Given the description of an element on the screen output the (x, y) to click on. 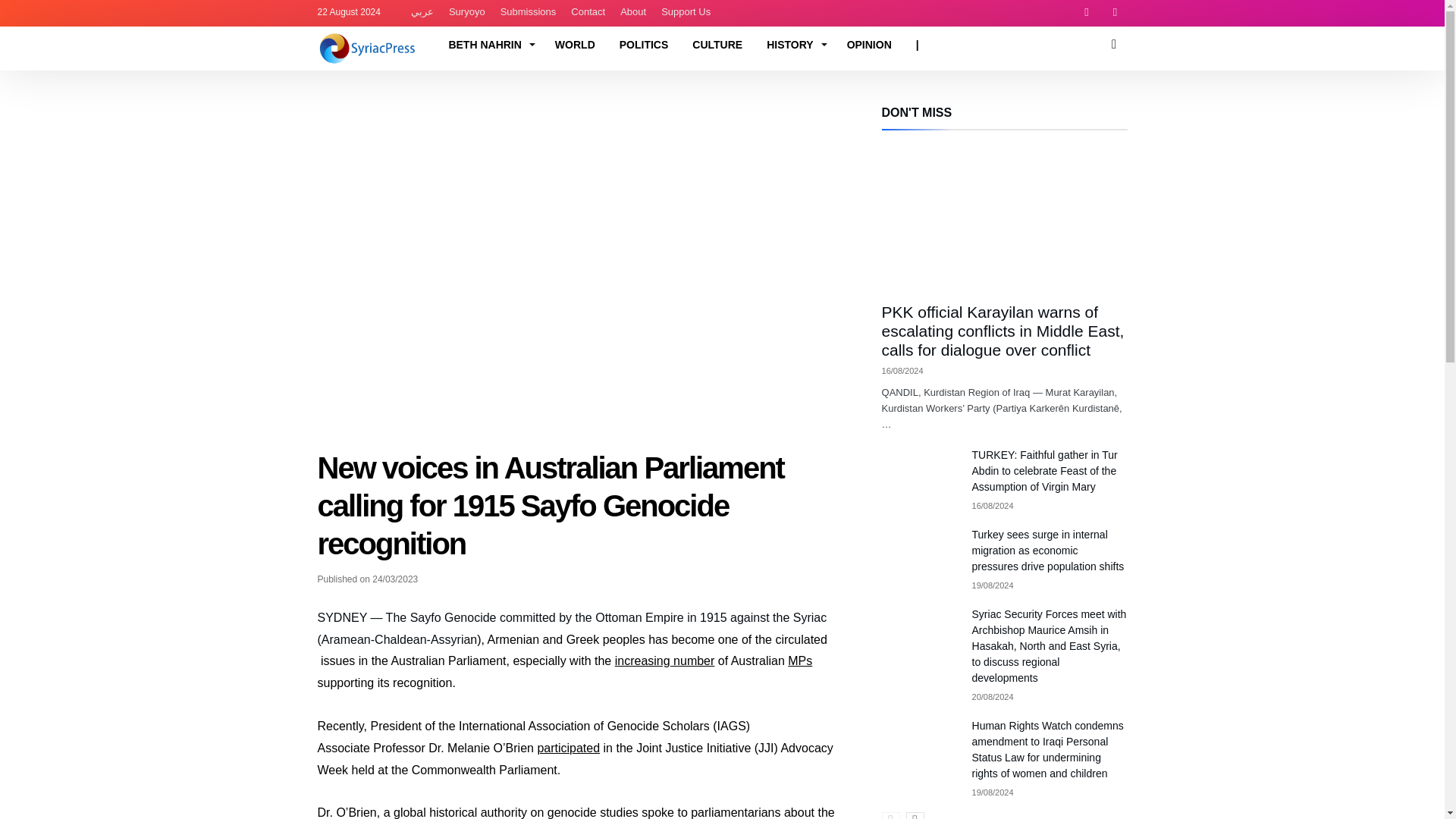
HISTORY (794, 44)
Contact (587, 12)
SyriacPress (368, 30)
Twitter (1114, 13)
About (632, 12)
CULTURE (716, 44)
WORLD (575, 44)
MPs (799, 660)
participated (568, 748)
BETH NAHRIN (488, 44)
